Given the description of an element on the screen output the (x, y) to click on. 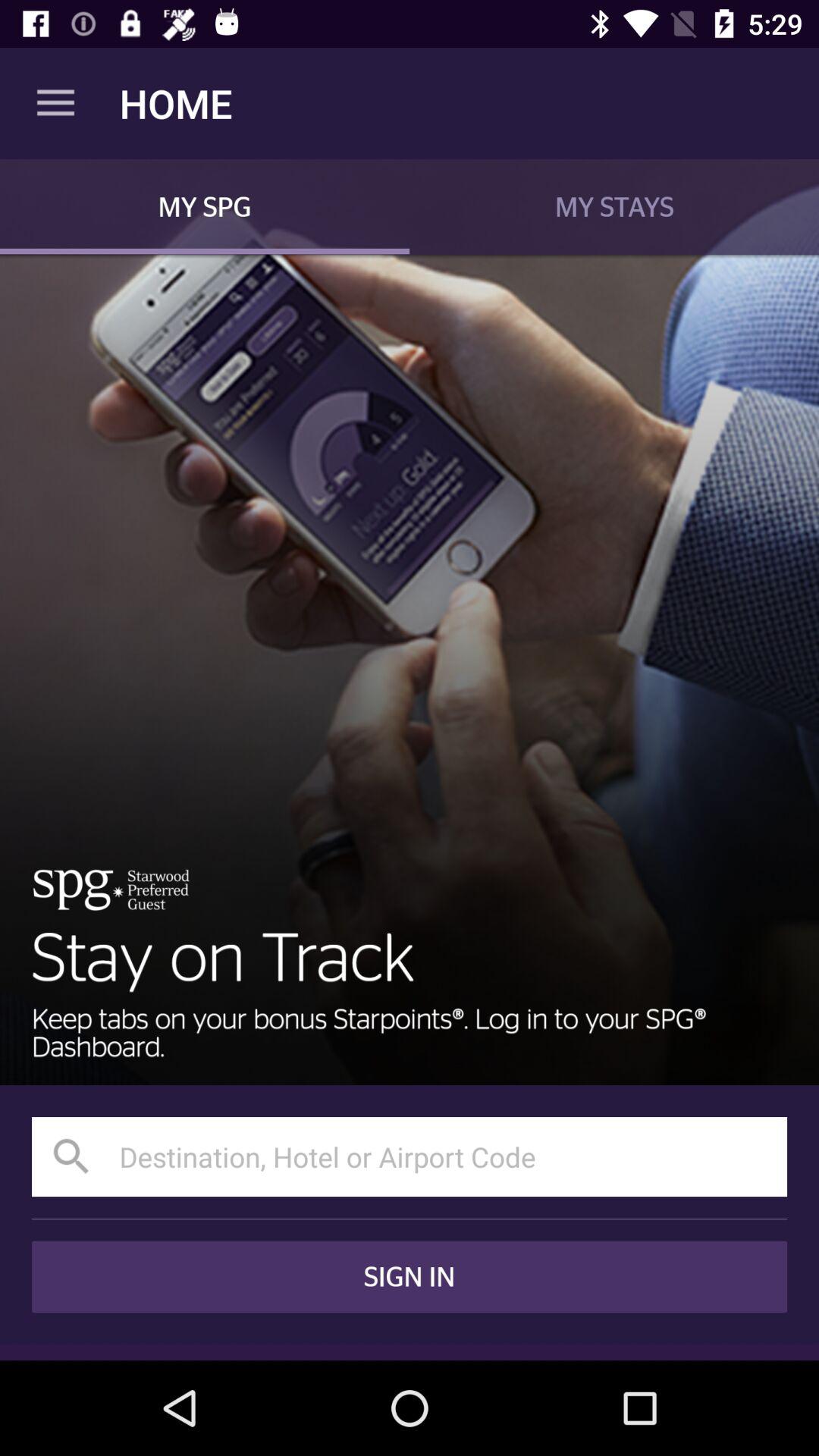
choose my stays app (614, 206)
